Given the description of an element on the screen output the (x, y) to click on. 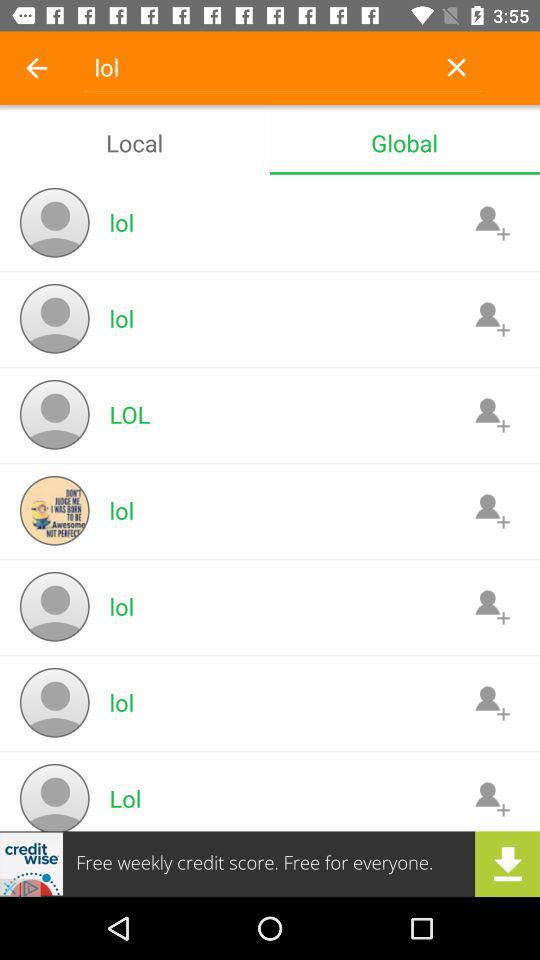
contact page (492, 797)
